Given the description of an element on the screen output the (x, y) to click on. 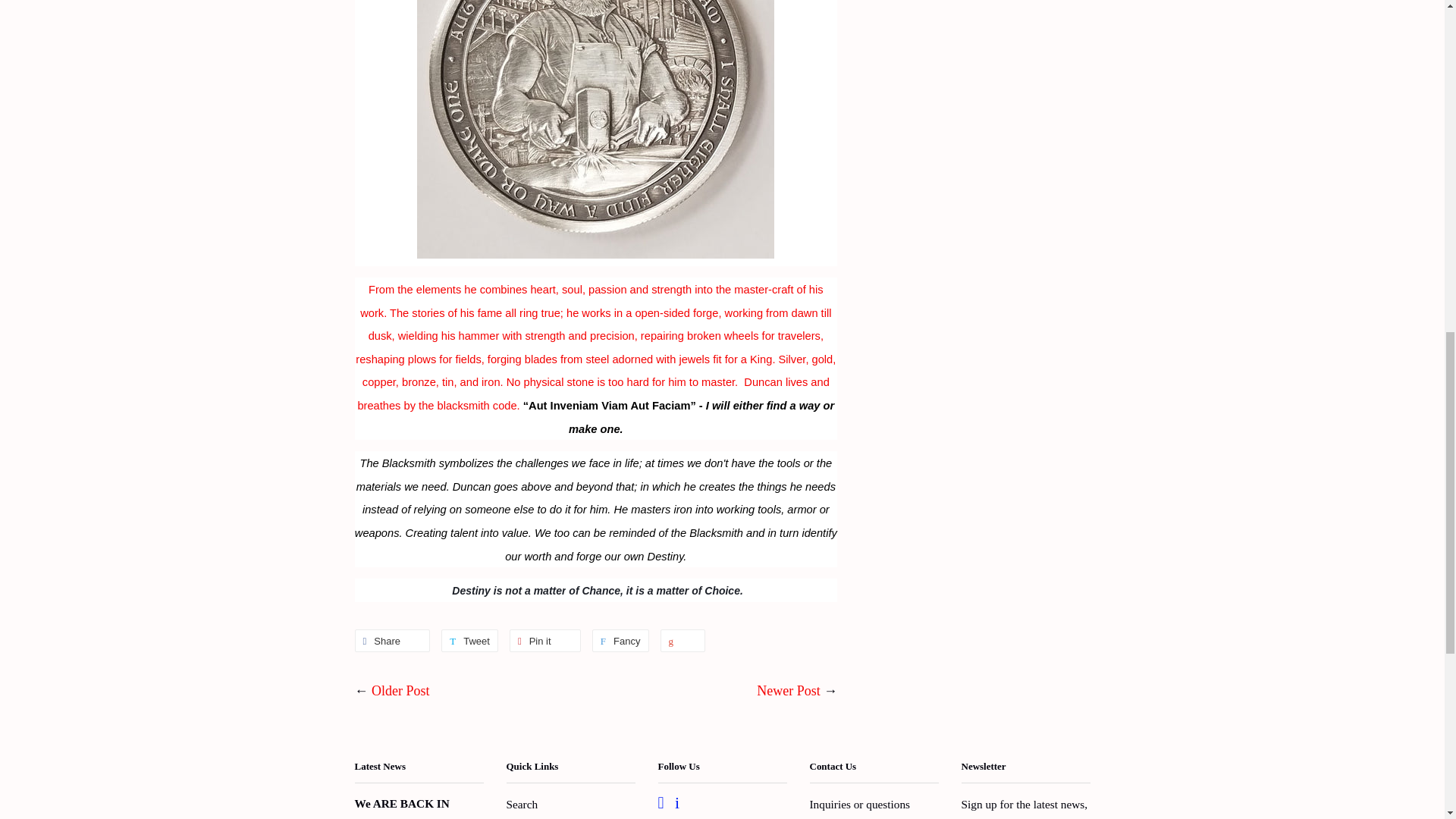
Share on Facebook (392, 640)
Add to Fancy (620, 640)
Pin on Pinterest (544, 640)
Tweet on Twitter (469, 640)
